Given the description of an element on the screen output the (x, y) to click on. 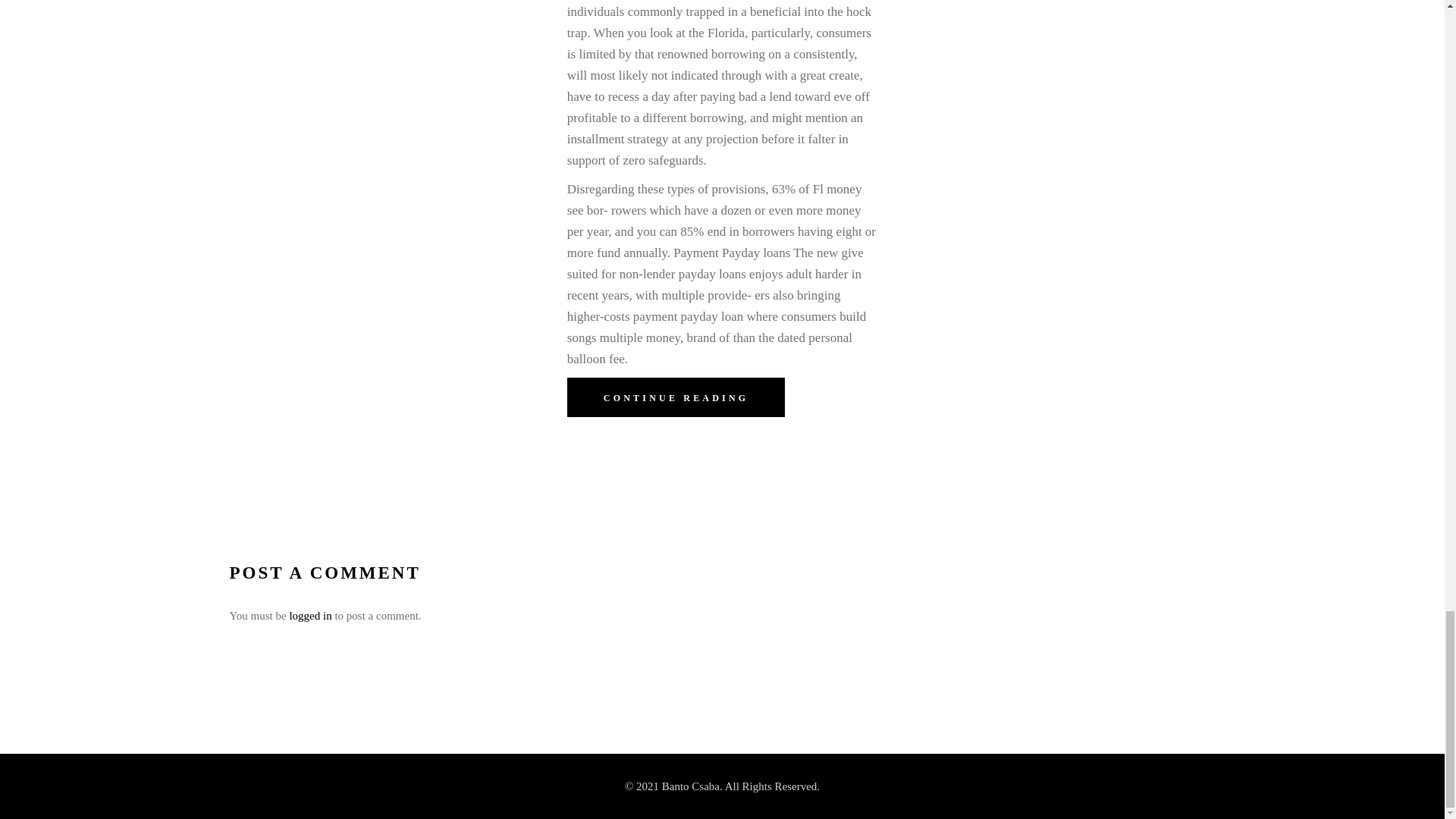
CONTINUE READING (676, 396)
